Given the description of an element on the screen output the (x, y) to click on. 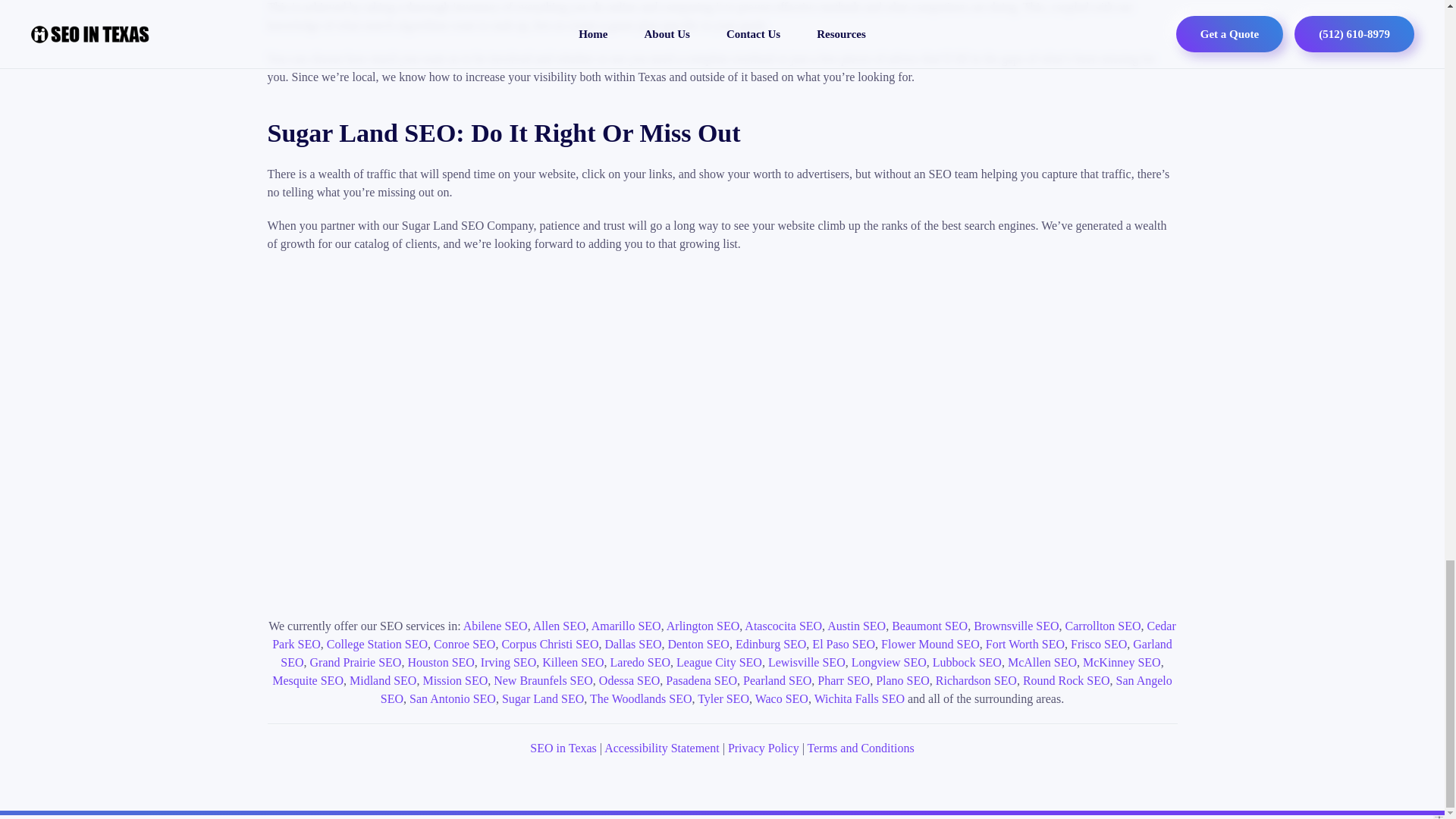
Atascocita SEO (783, 625)
Dallas SEO (632, 644)
Conroe SEO (464, 644)
Denton SEO (698, 644)
Beaumont SEO (929, 625)
Abilene SEO (495, 625)
Edinburg SEO (770, 644)
El Paso SEO (843, 644)
Amarillo SEO (626, 625)
Allen SEO (559, 625)
Flower Mound SEO (929, 644)
Arlington SEO (702, 625)
Cedar Park SEO (724, 634)
Carrollton SEO (1103, 625)
College Station SEO (377, 644)
